Given the description of an element on the screen output the (x, y) to click on. 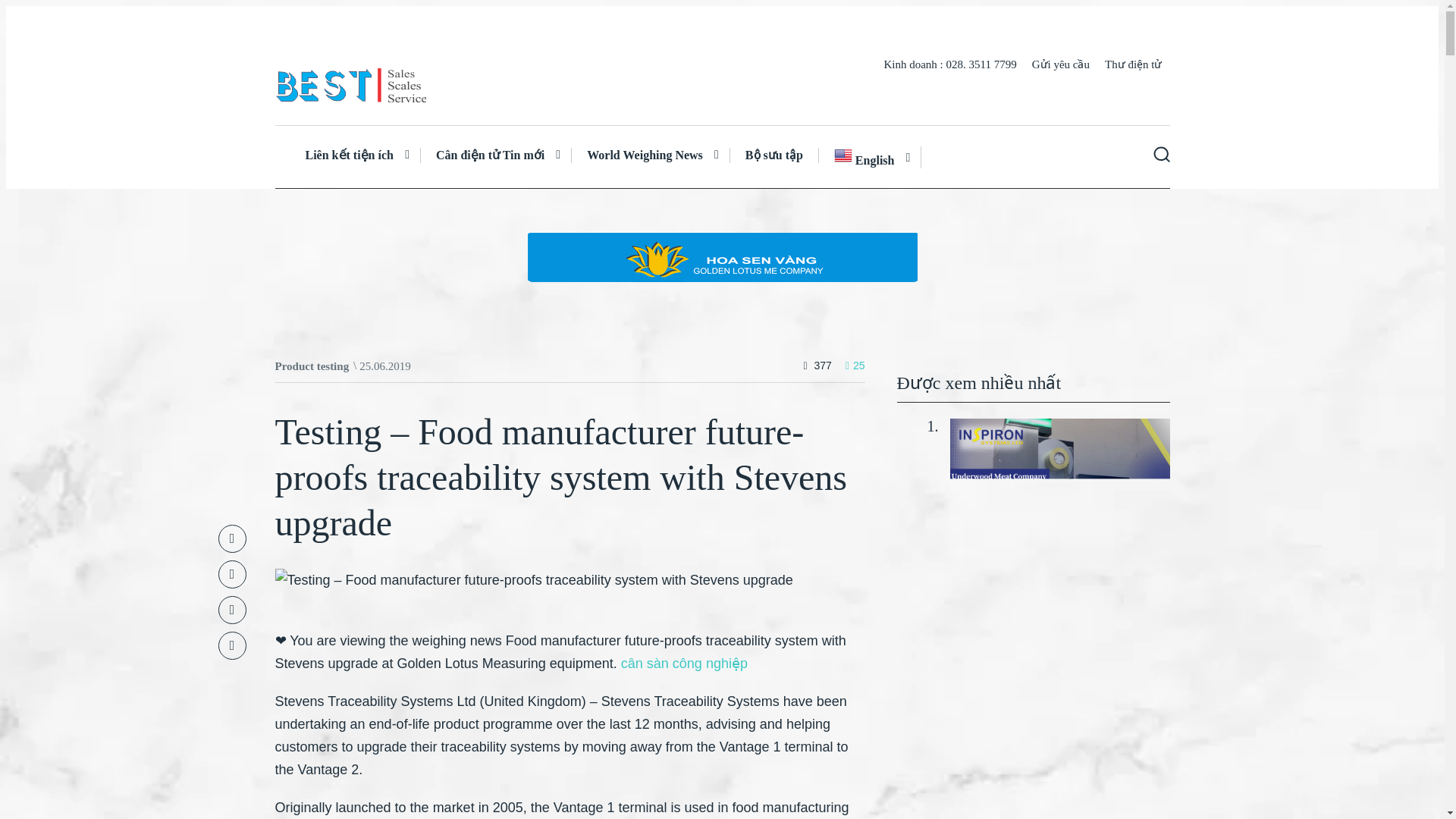
English (869, 157)
World Weighing News (651, 155)
Like (854, 365)
View all posts in Product testing (312, 366)
Product testing (312, 366)
25 (854, 365)
Kinh doanh : 028. 3511 7799 (949, 64)
